Given the description of an element on the screen output the (x, y) to click on. 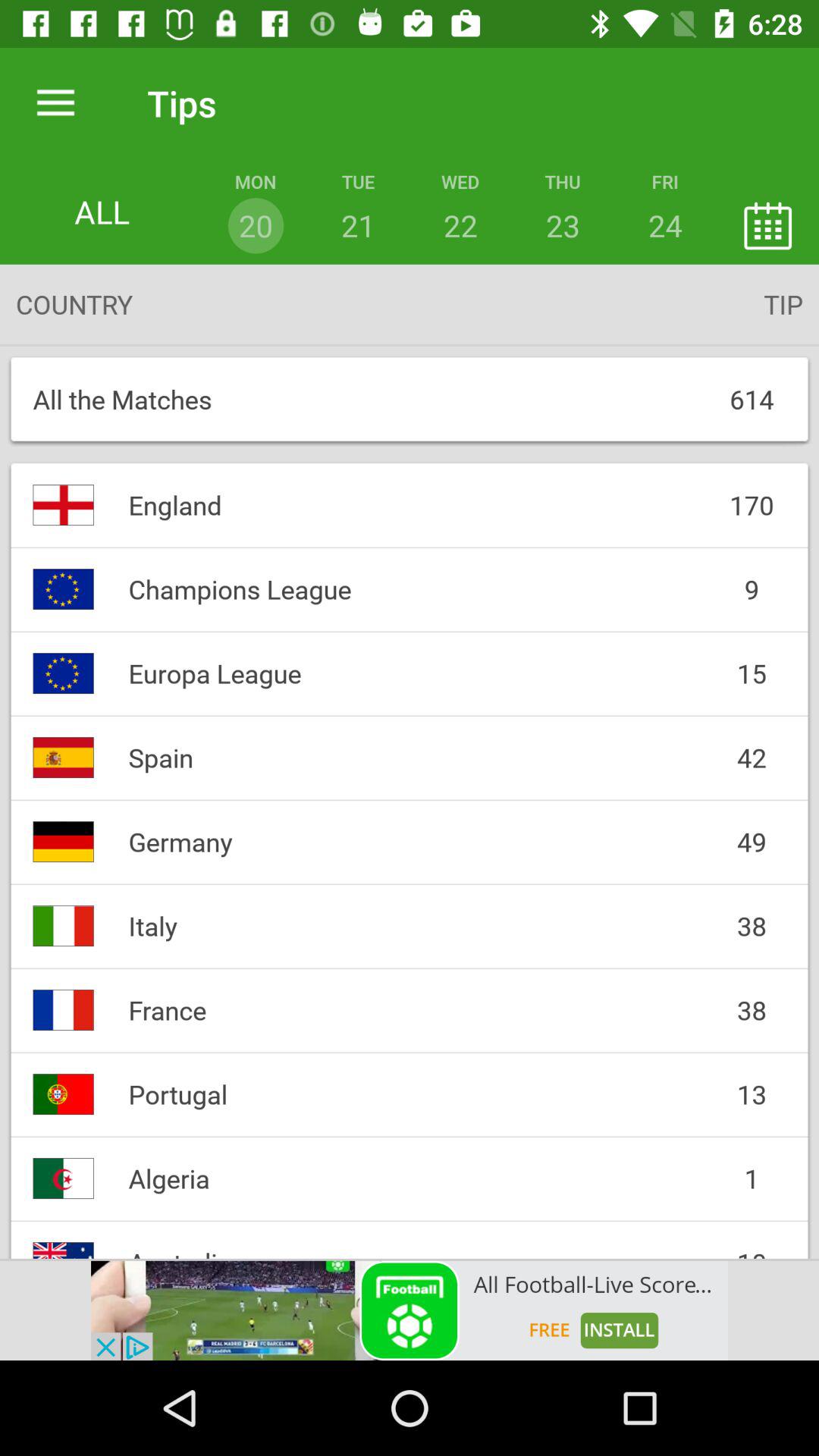
open advertisement (409, 1310)
